Given the description of an element on the screen output the (x, y) to click on. 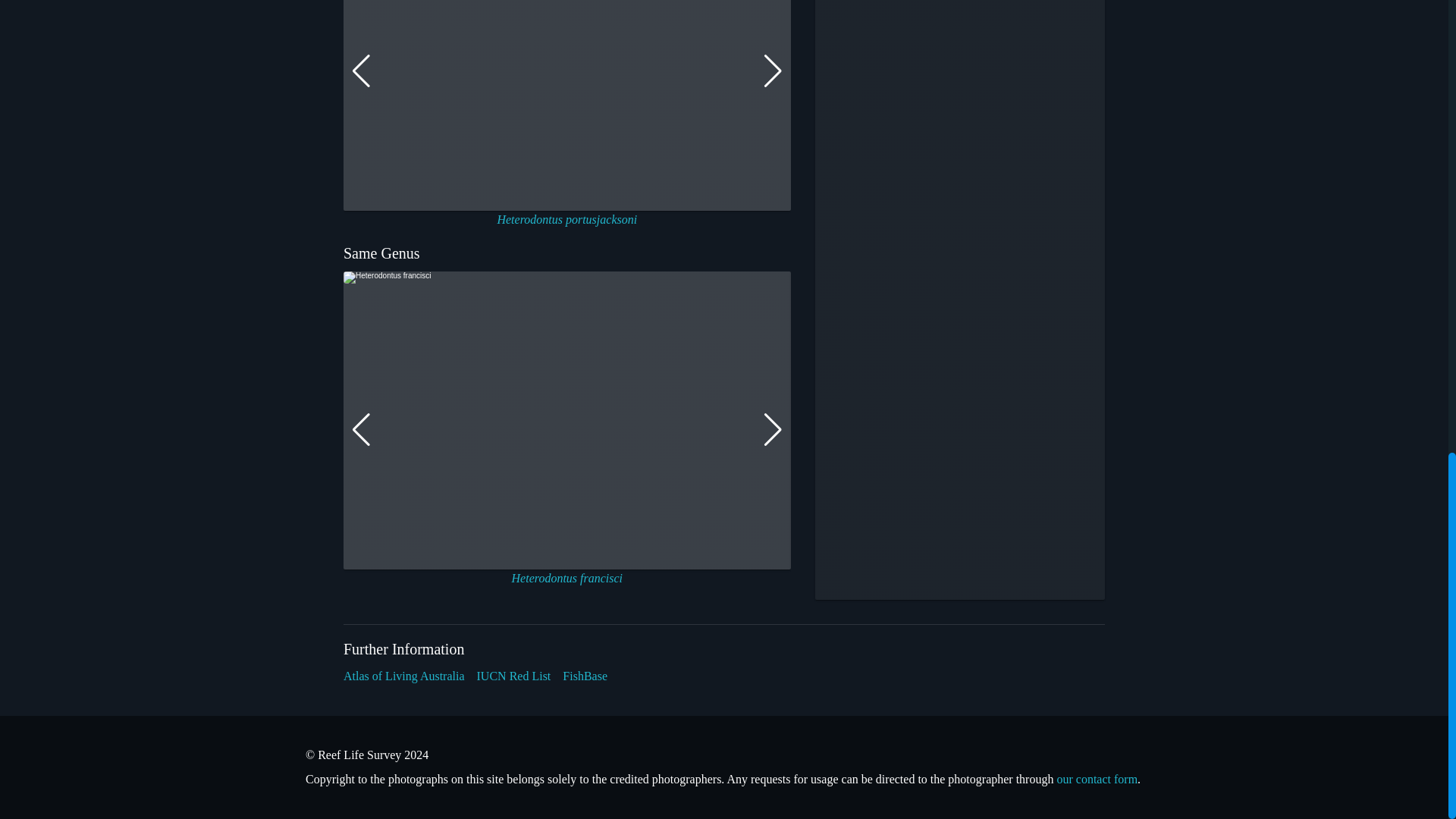
Atlas of Living Australia (403, 675)
Heterodontus francisci (567, 577)
FishBase (584, 675)
IUCN Red List (514, 675)
our contact form (1097, 779)
Heterodontus portusjacksoni (566, 219)
